Given the description of an element on the screen output the (x, y) to click on. 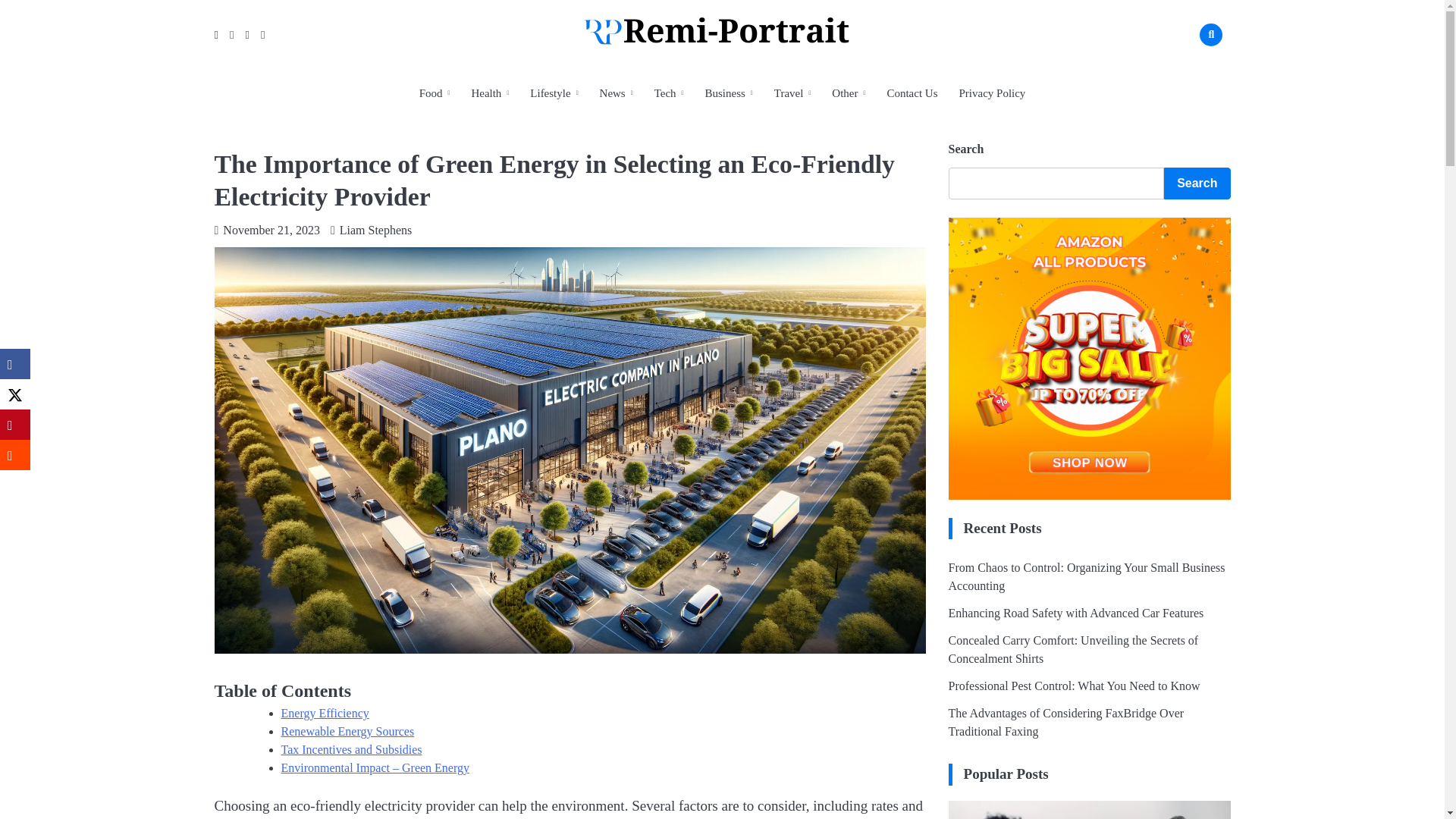
Search (1187, 69)
Travel (792, 92)
Tech (668, 92)
Health (489, 92)
News (616, 92)
Business (728, 92)
Lifestyle (553, 92)
Food (435, 92)
